Given the description of an element on the screen output the (x, y) to click on. 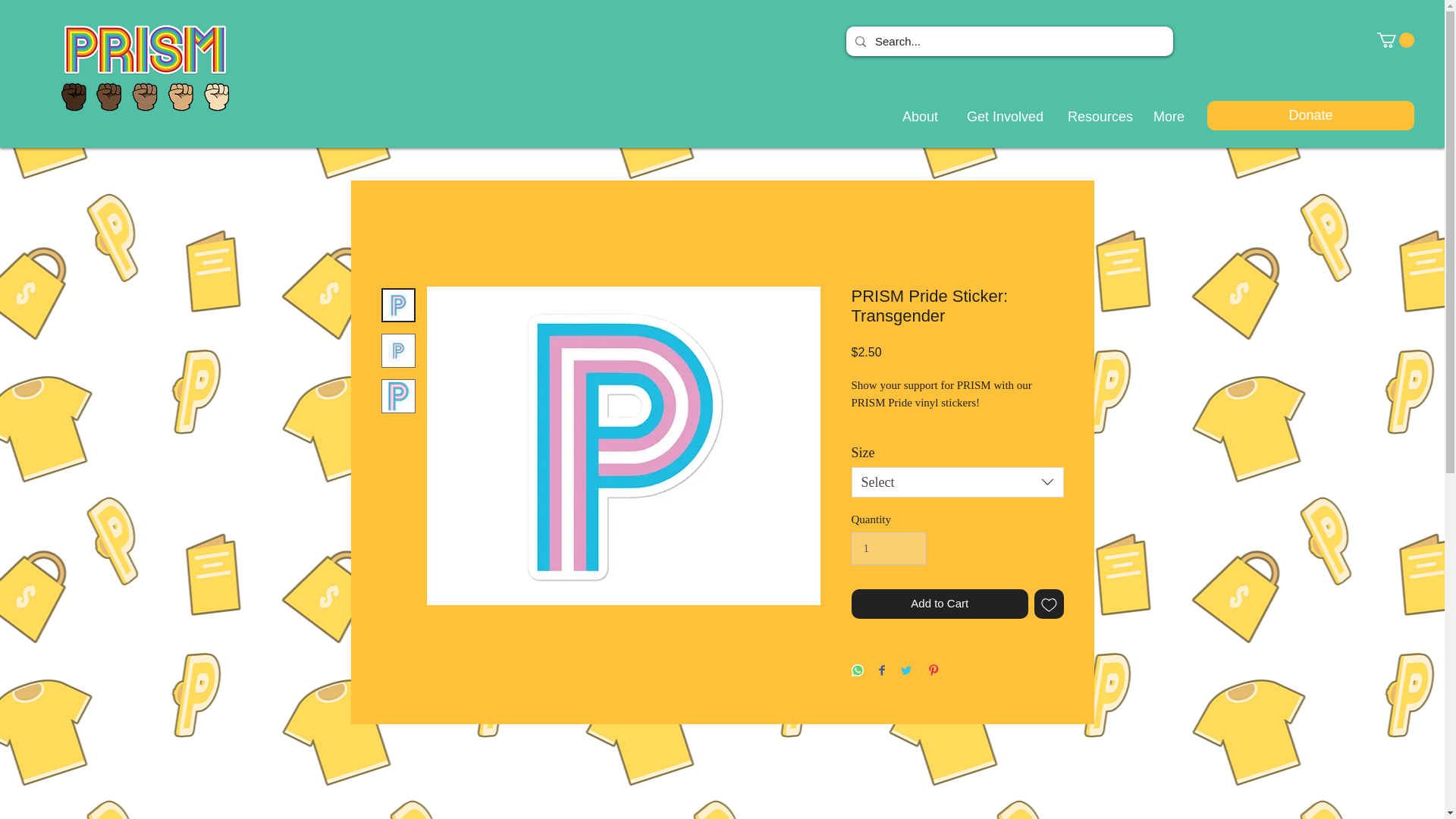
Add to Cart (938, 603)
Select (956, 481)
Donate (1310, 115)
Resources (1095, 116)
1 (887, 548)
Get Involved (997, 116)
About (915, 116)
